Given the description of an element on the screen output the (x, y) to click on. 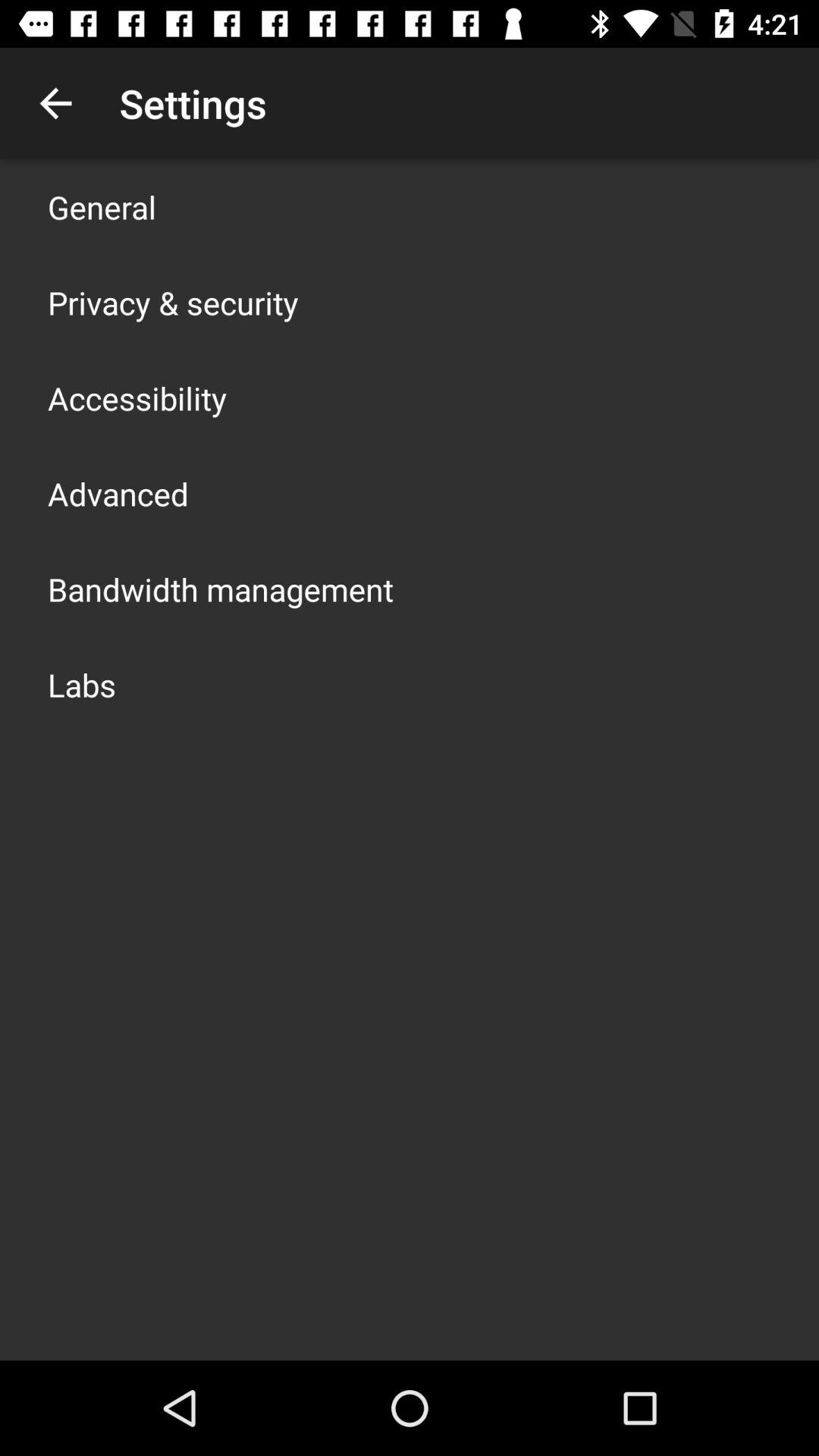
click app below privacy & security app (136, 397)
